Given the description of an element on the screen output the (x, y) to click on. 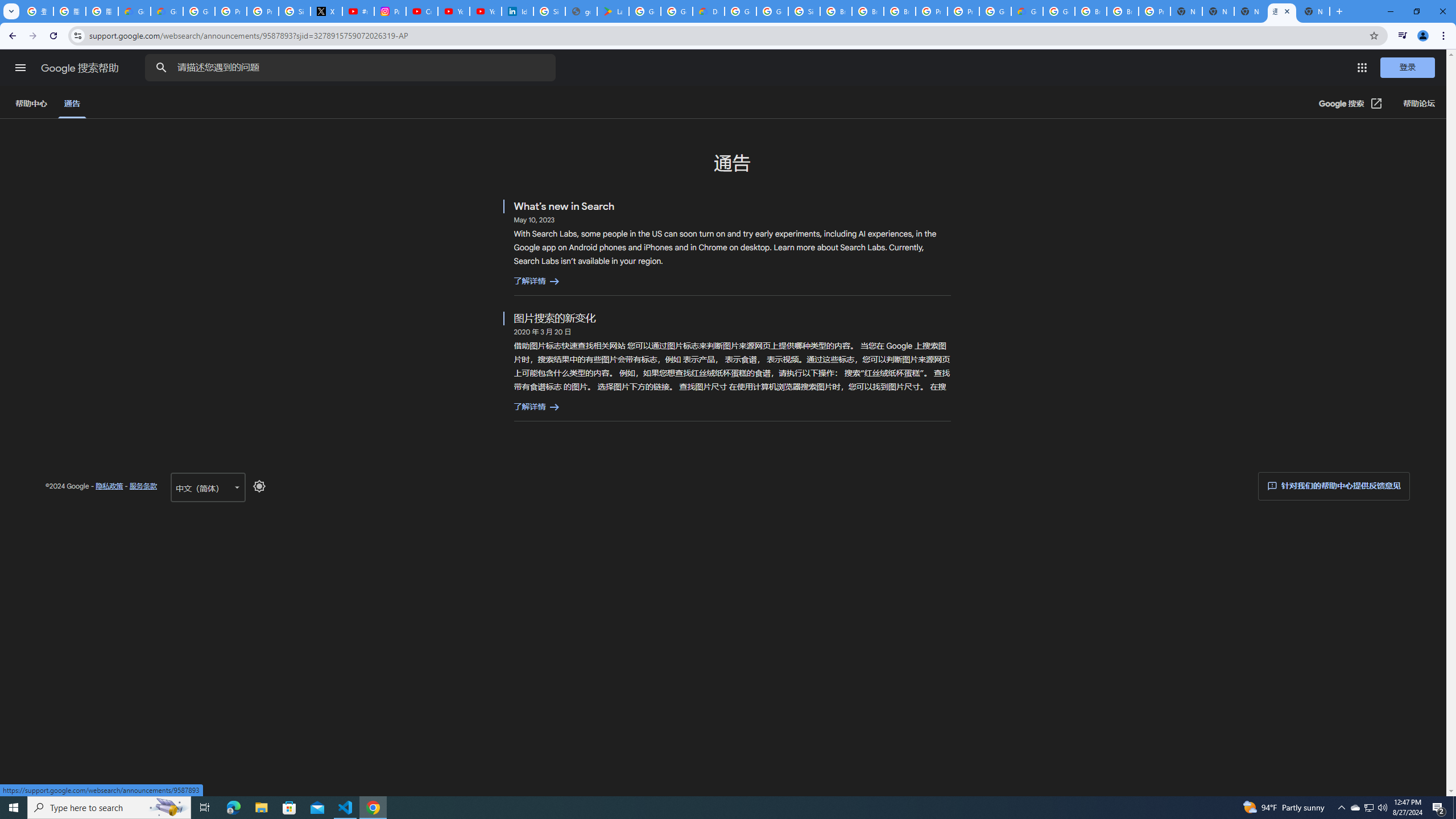
New Tab (1313, 11)
Last Shelter: Survival - Apps on Google Play (613, 11)
Google Cloud Privacy Notice (134, 11)
Google Cloud Estimate Summary (1027, 11)
Privacy Help Center - Policies Help (262, 11)
Browse Chrome as a guest - Computer - Google Chrome Help (1123, 11)
Browse Chrome as a guest - Computer - Google Chrome Help (868, 11)
